Given the description of an element on the screen output the (x, y) to click on. 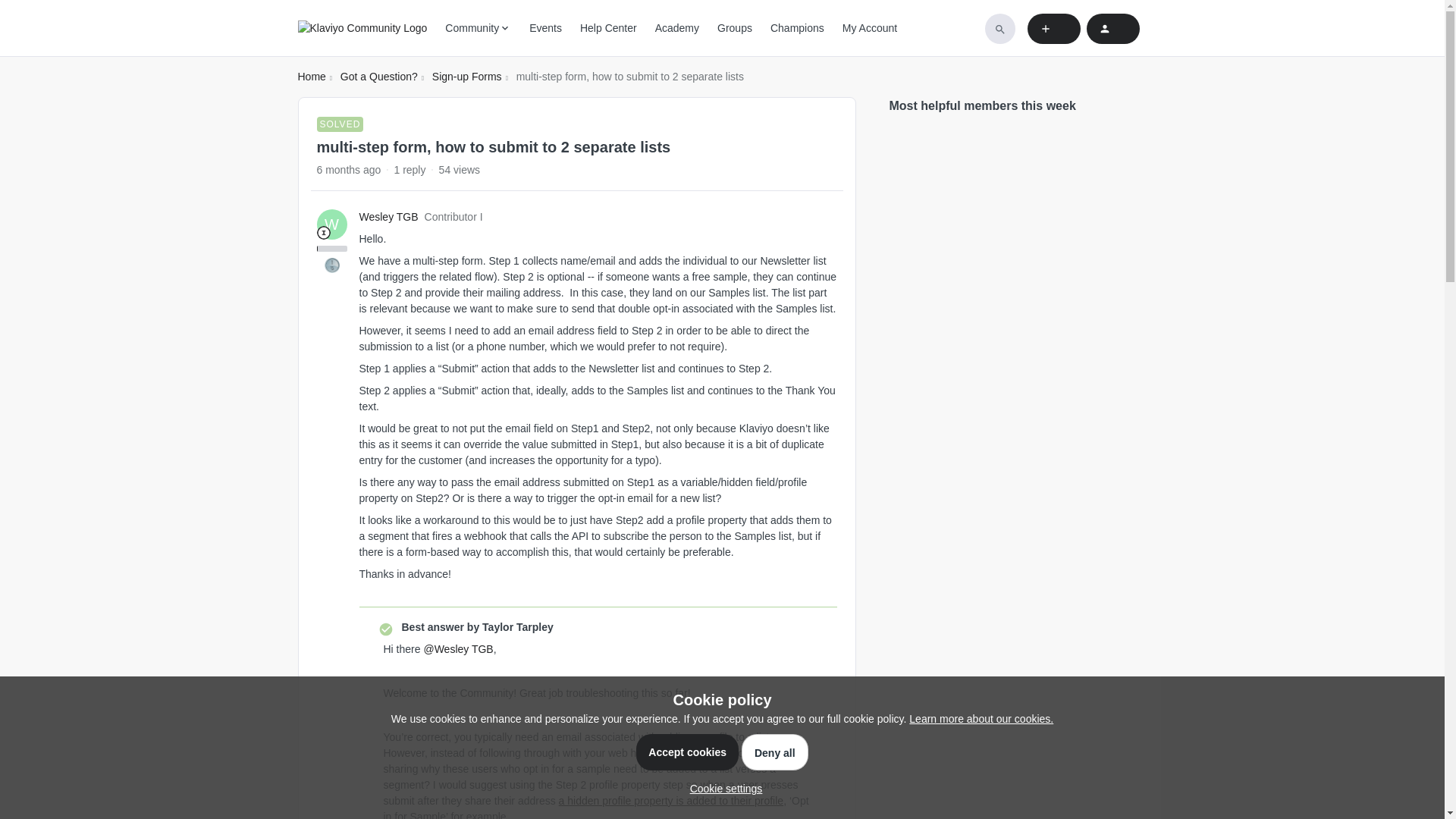
Academy (676, 28)
Events (545, 28)
Community (478, 28)
Home (310, 76)
Groups (734, 28)
Champions (797, 28)
Help Center (608, 28)
Got a Question? (378, 76)
My Account (869, 28)
